Given the description of an element on the screen output the (x, y) to click on. 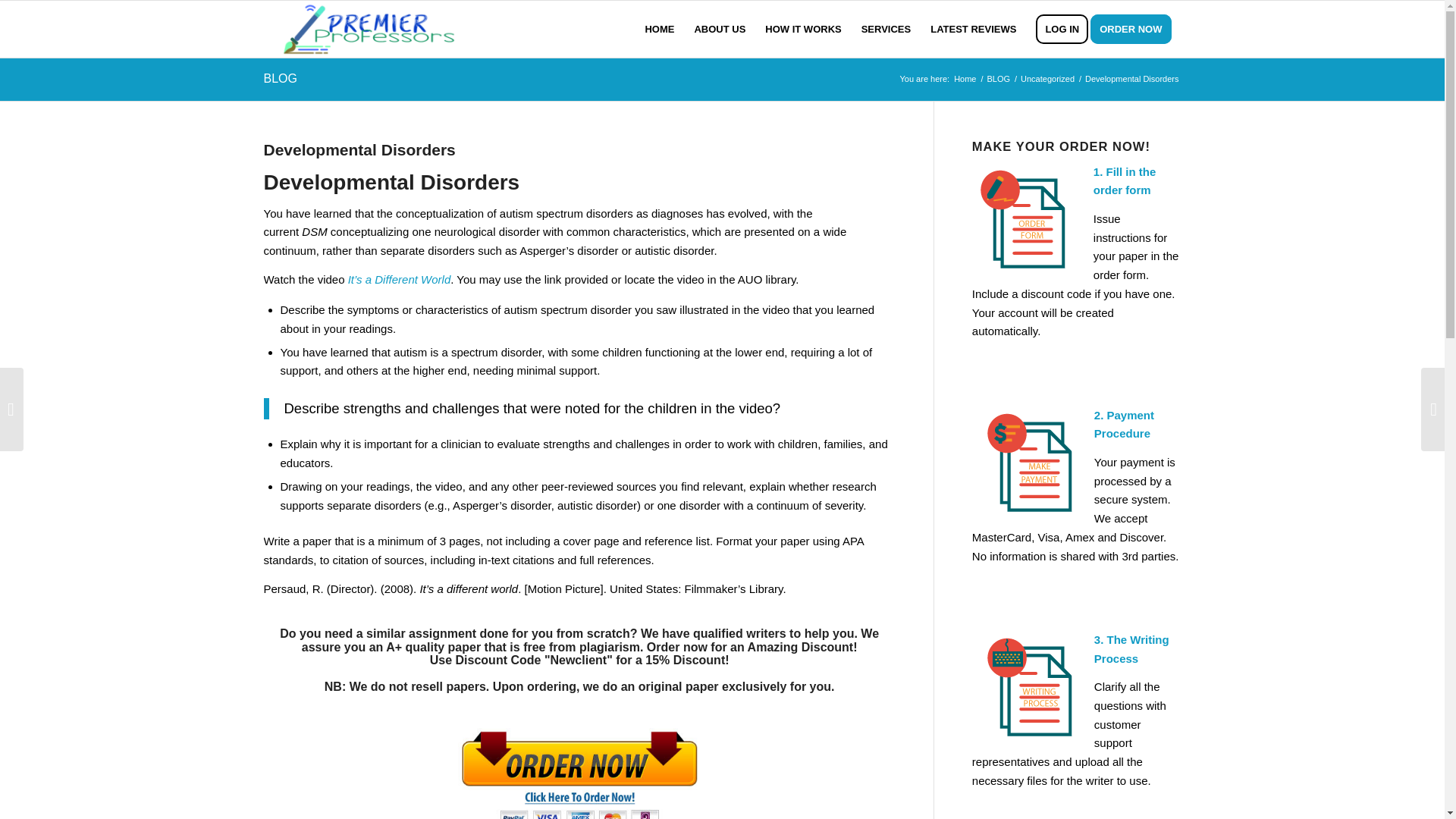
LOG IN (1061, 28)
BLOG (997, 79)
ABOUT US (719, 28)
HOW IT WORKS (802, 28)
Home (965, 79)
BLOG (997, 79)
BLOG (280, 78)
ORDER NOW (1135, 28)
Permanent Link: BLOG (280, 78)
LATEST REVIEWS (973, 28)
premierprofessors (965, 79)
Uncategorized (1047, 79)
SERVICES (886, 28)
Permanent Link: Developmental Disorders (359, 149)
Developmental Disorders (359, 149)
